Given the description of an element on the screen output the (x, y) to click on. 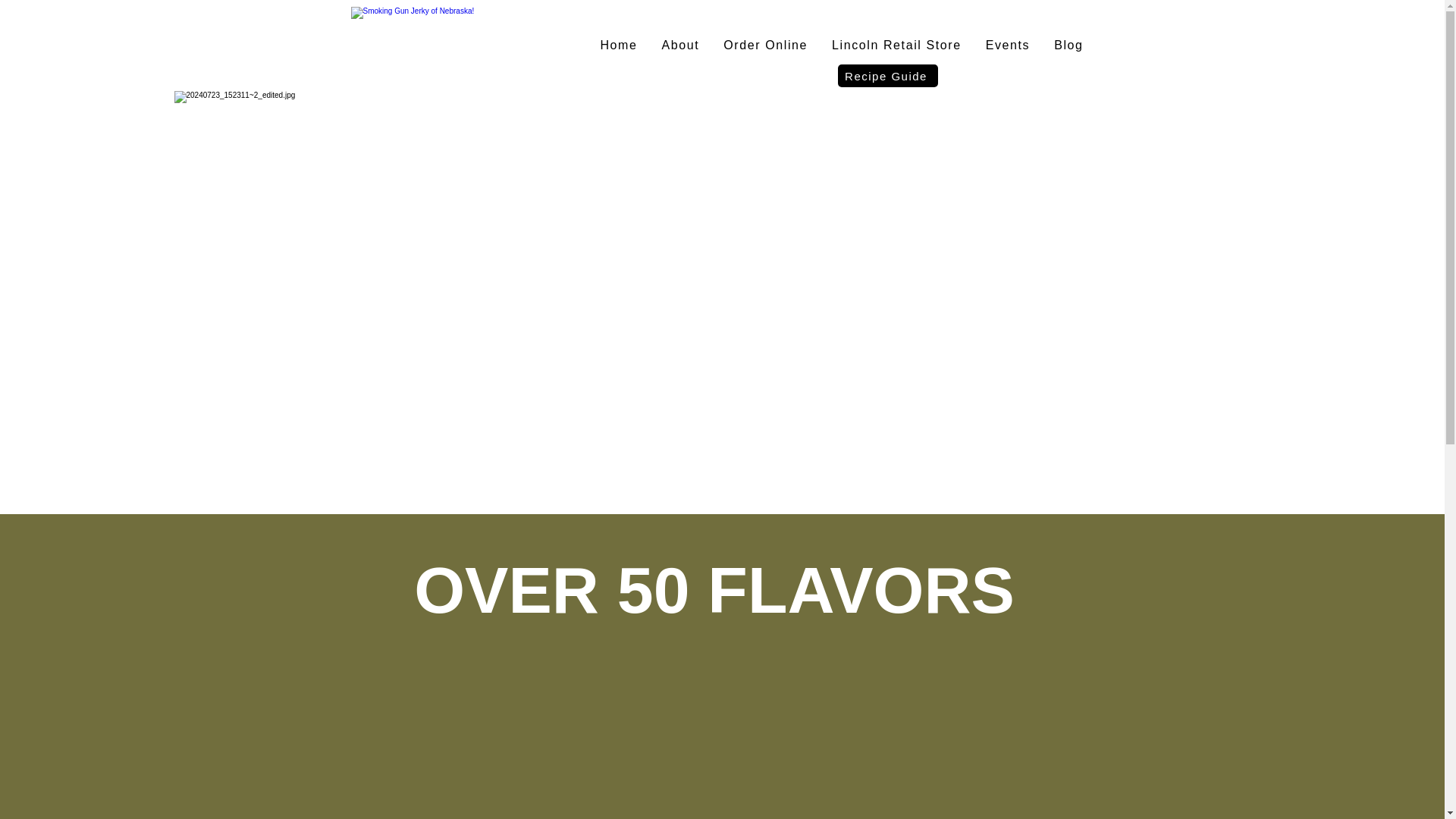
Events (1007, 46)
Lincoln Retail Store (896, 46)
About (680, 46)
Order Online (765, 46)
Home (618, 46)
Recipe Guide (887, 75)
Blog (1068, 46)
